Given the description of an element on the screen output the (x, y) to click on. 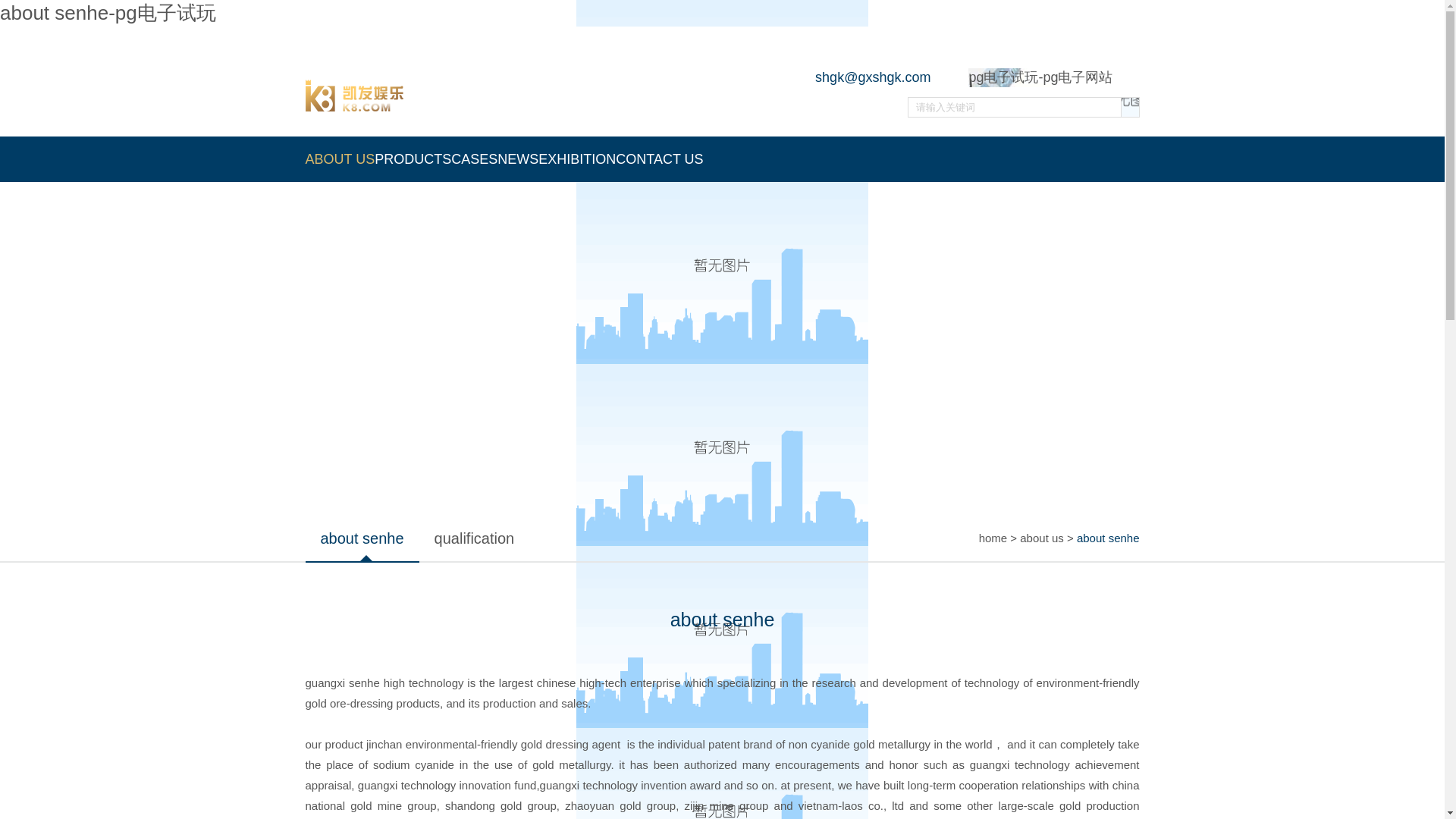
about us (1042, 537)
EXHIBITION (576, 158)
CASES (474, 158)
PRODUCTS (412, 158)
NEWS (517, 158)
home (992, 537)
ABOUT US (339, 158)
qualification (474, 538)
CONTACT US (659, 158)
about senhe (361, 538)
